Given the description of an element on the screen output the (x, y) to click on. 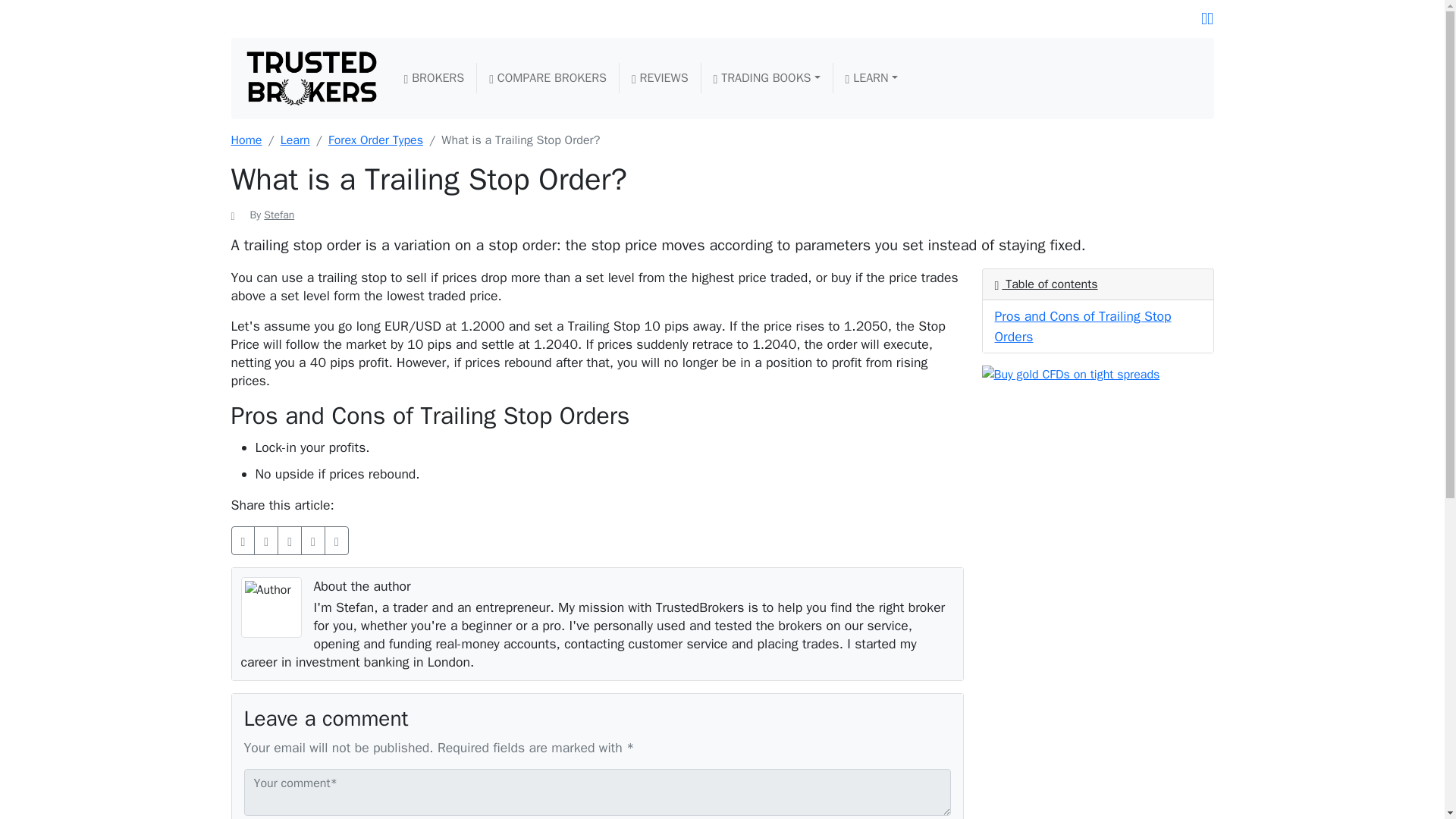
COMPARE BROKERS (547, 78)
TrustedBrokers (310, 78)
TRADING BOOKS (767, 78)
Table of contents (1045, 283)
REVIEWS (660, 78)
Learn (295, 140)
LEARN (872, 78)
Pros and Cons of Trailing Stop Orders (1083, 325)
Forex Order Types (376, 140)
Stefan (278, 214)
BROKERS (433, 78)
Home (246, 140)
